Given the description of an element on the screen output the (x, y) to click on. 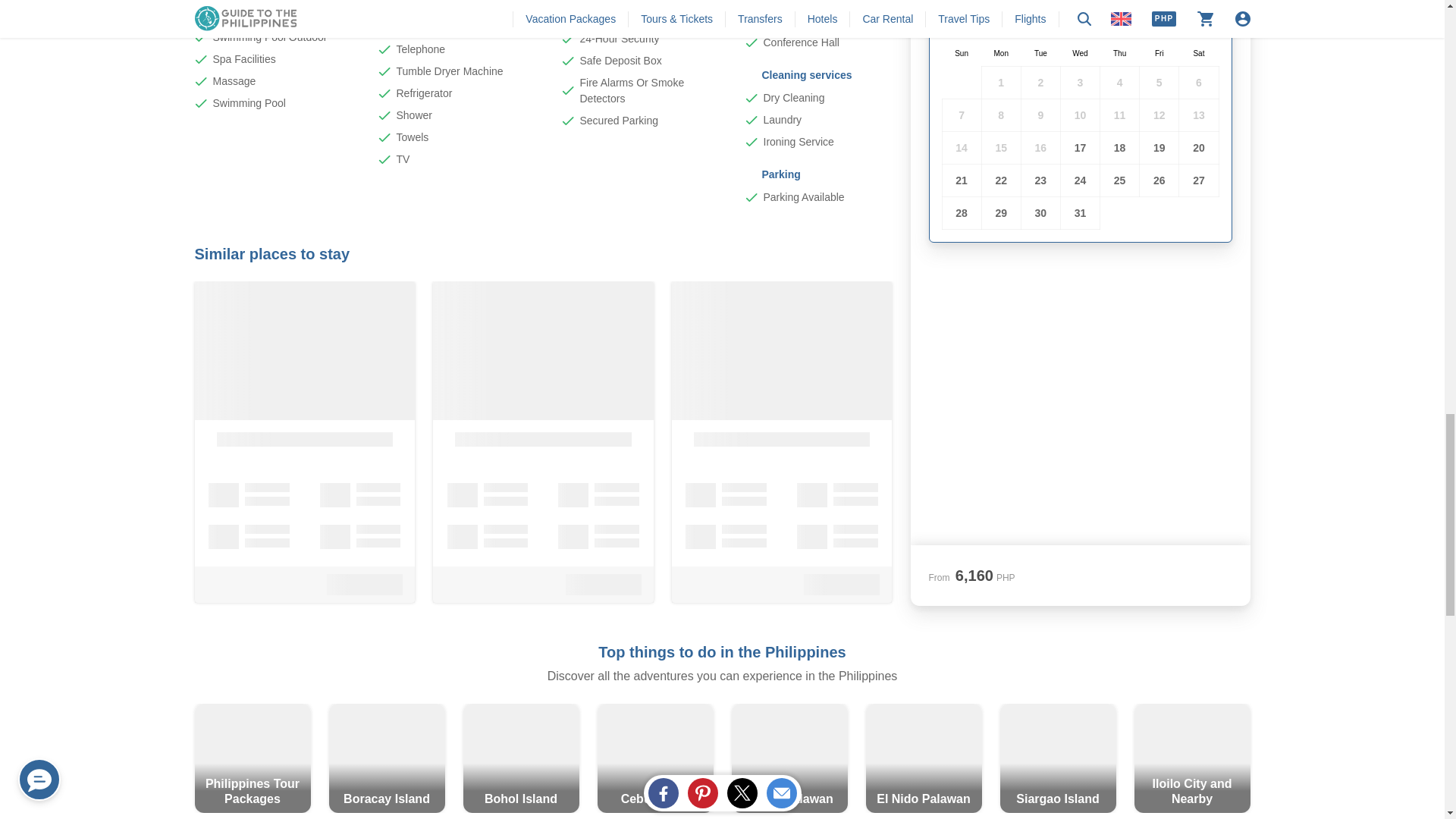
Coron Palawan (789, 758)
Boracay Island (387, 758)
Philippines Tour Packages (251, 758)
Siargao Island (1057, 758)
Cebu Island (655, 758)
El Nido Palawan (924, 758)
Bohol Island (520, 758)
